Given the description of an element on the screen output the (x, y) to click on. 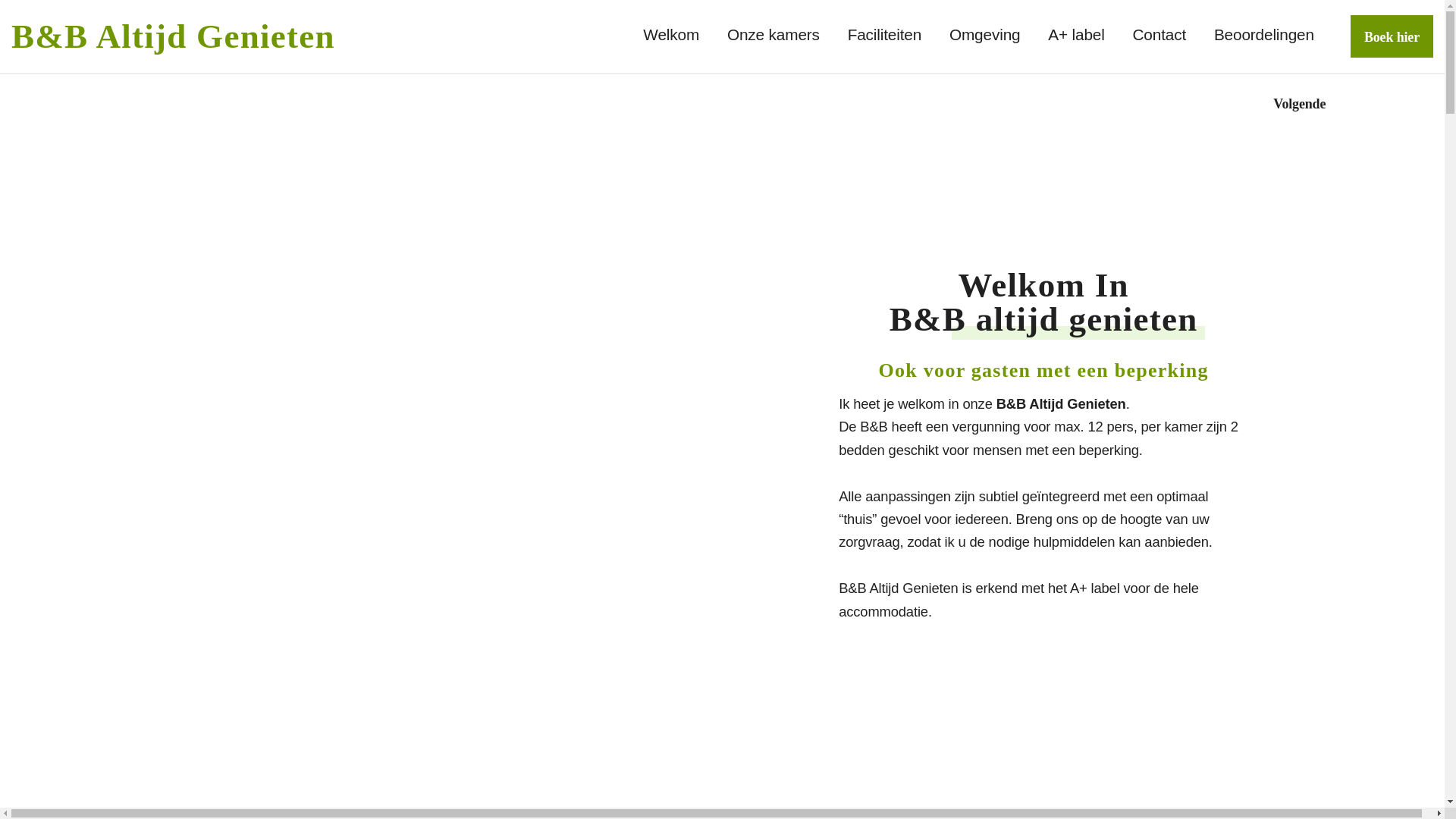
Welkom Element type: text (671, 34)
Beoordelingen Element type: text (1264, 34)
Faciliteiten Element type: text (884, 34)
A+ label Element type: text (1076, 34)
Omgeving Element type: text (984, 34)
Contact Element type: text (1159, 34)
Onze kamers Element type: text (773, 34)
Boek hier Element type: text (1391, 36)
B&B Altijd Genieten Element type: text (173, 35)
